Given the description of an element on the screen output the (x, y) to click on. 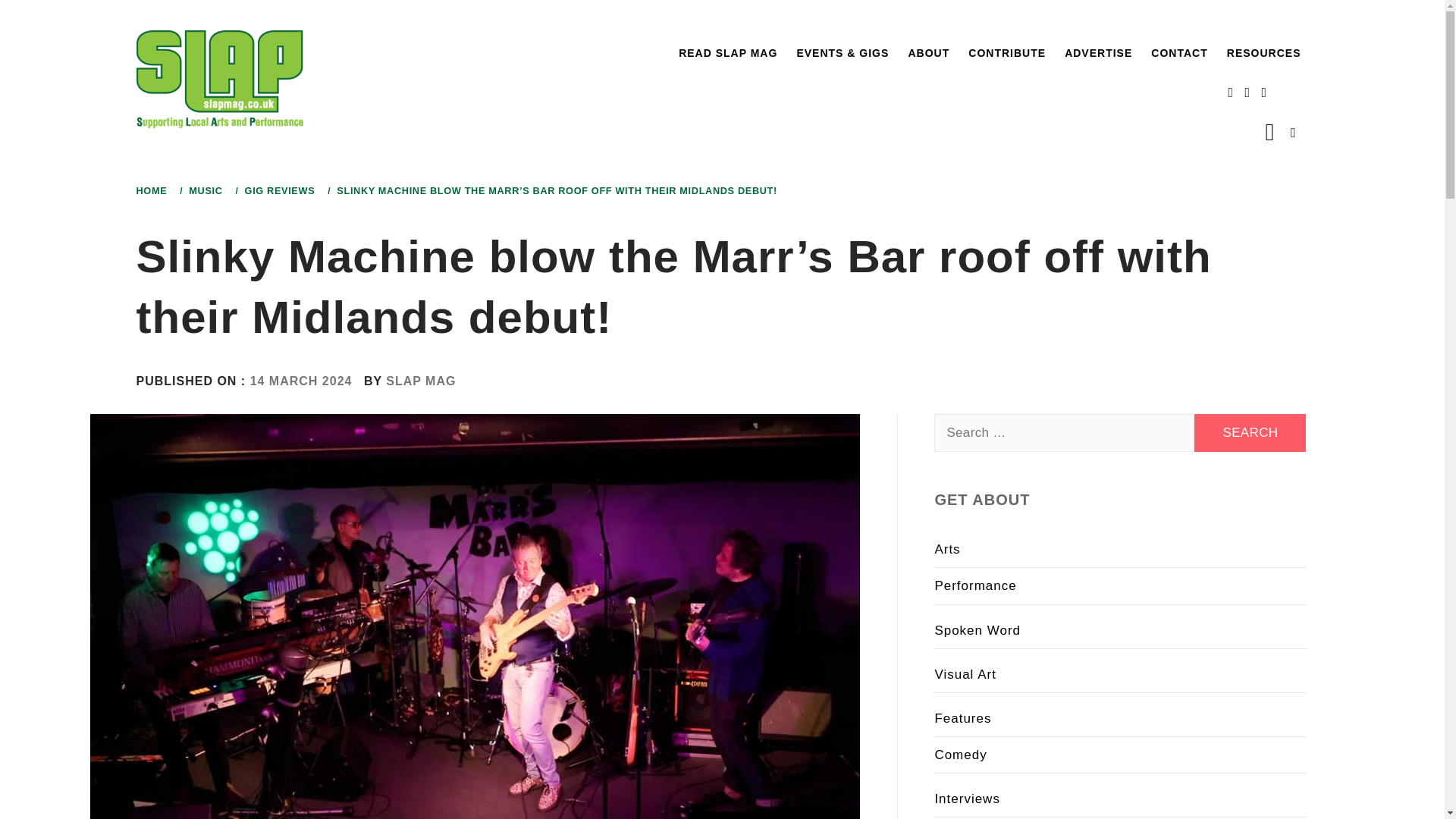
Search (646, 37)
READ SLAP MAG (727, 53)
ABOUT (927, 53)
ADVERTISE (1098, 53)
Search (1249, 433)
RESOURCES (1264, 53)
CONTRIBUTE (1006, 53)
CONTACT (1178, 53)
Search (1249, 433)
HOME (154, 190)
